Given the description of an element on the screen output the (x, y) to click on. 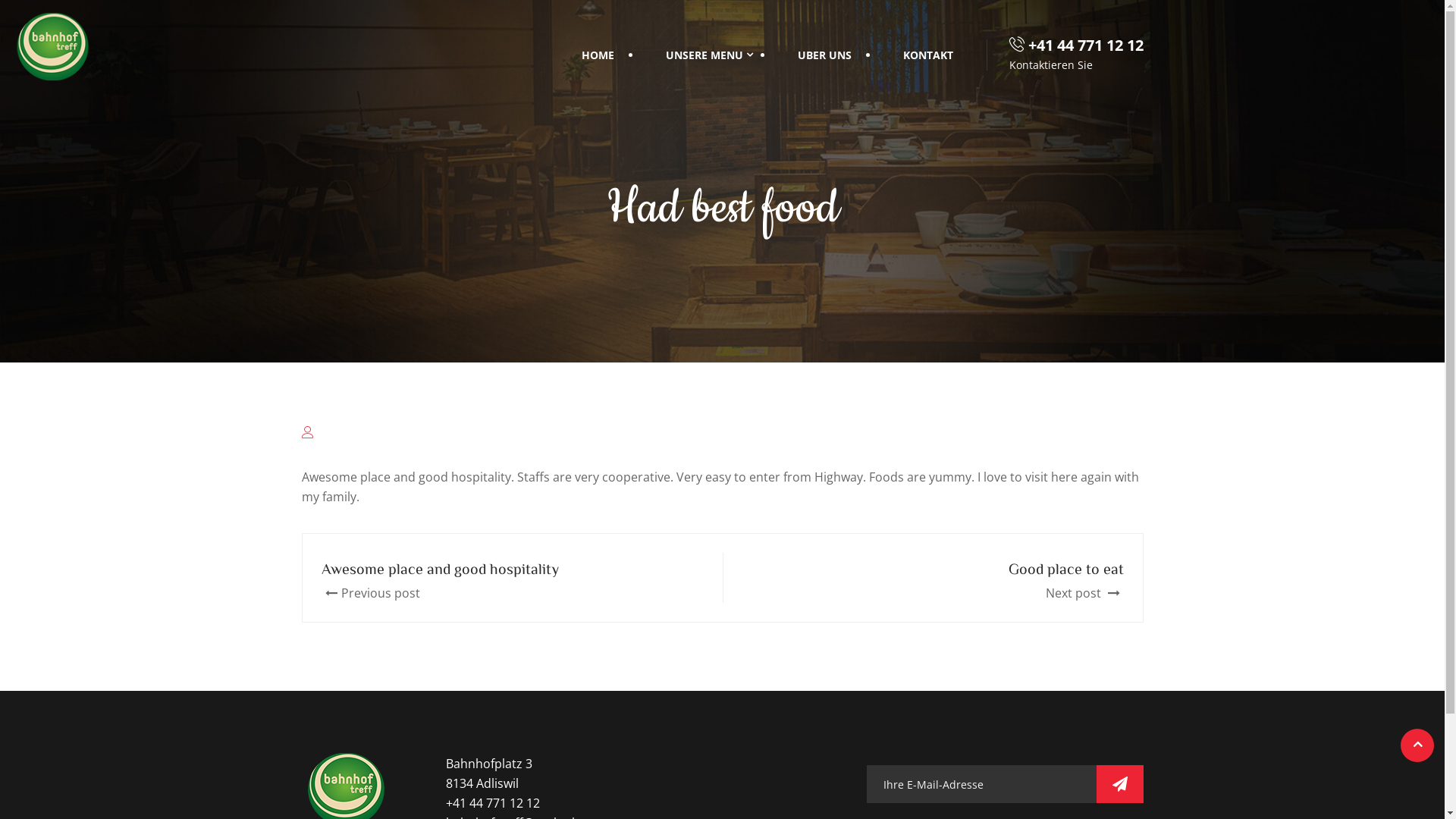
UBER UNS Element type: text (824, 54)
UNSERE MENU Element type: text (705, 54)
KONTAKT Element type: text (927, 54)
Good place to eat
Next post Element type: text (938, 578)
Awesome place and good hospitality
Previous post Element type: text (506, 578)
HOME Element type: text (597, 54)
